Given the description of an element on the screen output the (x, y) to click on. 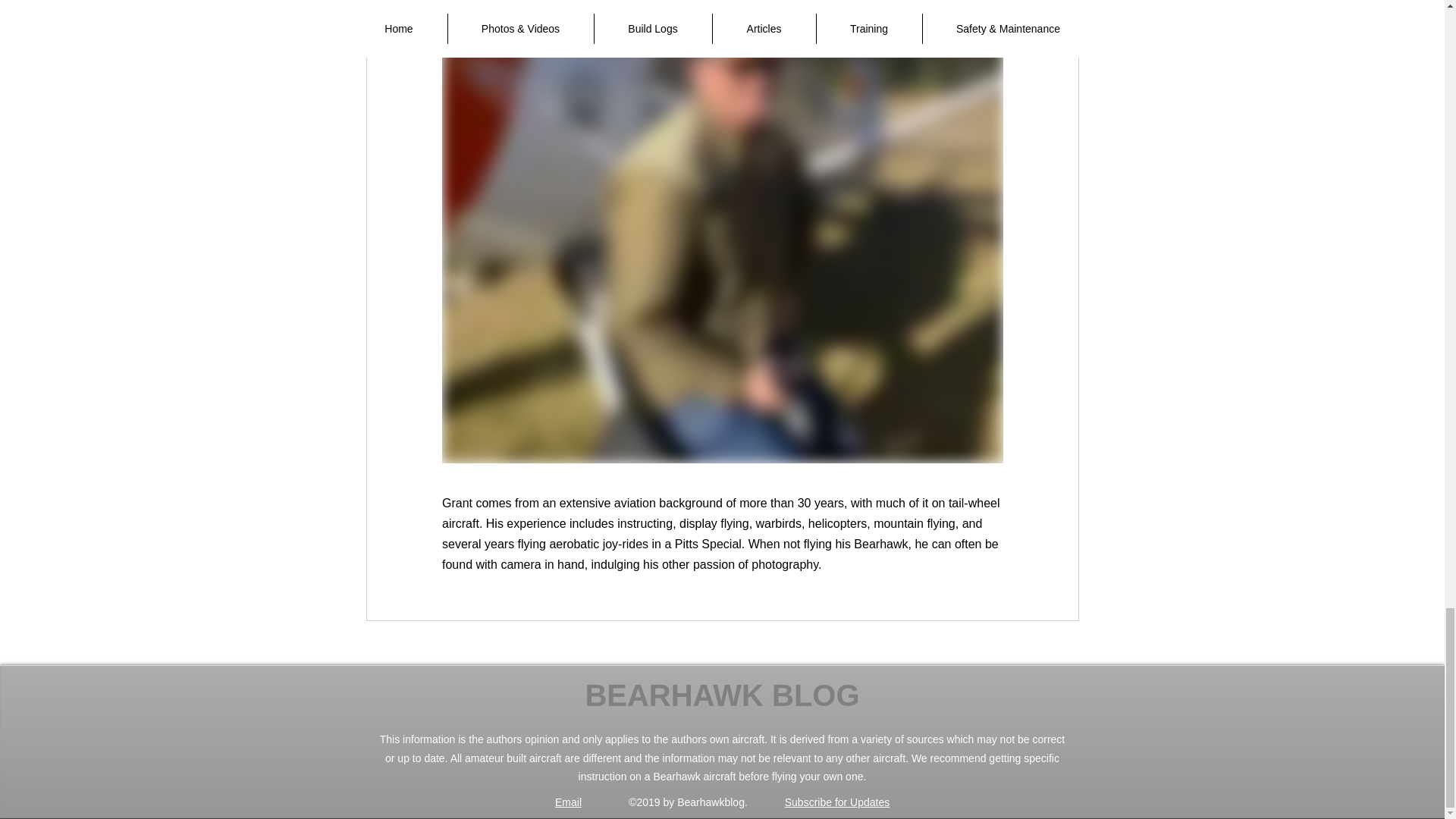
Email (567, 802)
Subscribe for Updates (836, 802)
